Given the description of an element on the screen output the (x, y) to click on. 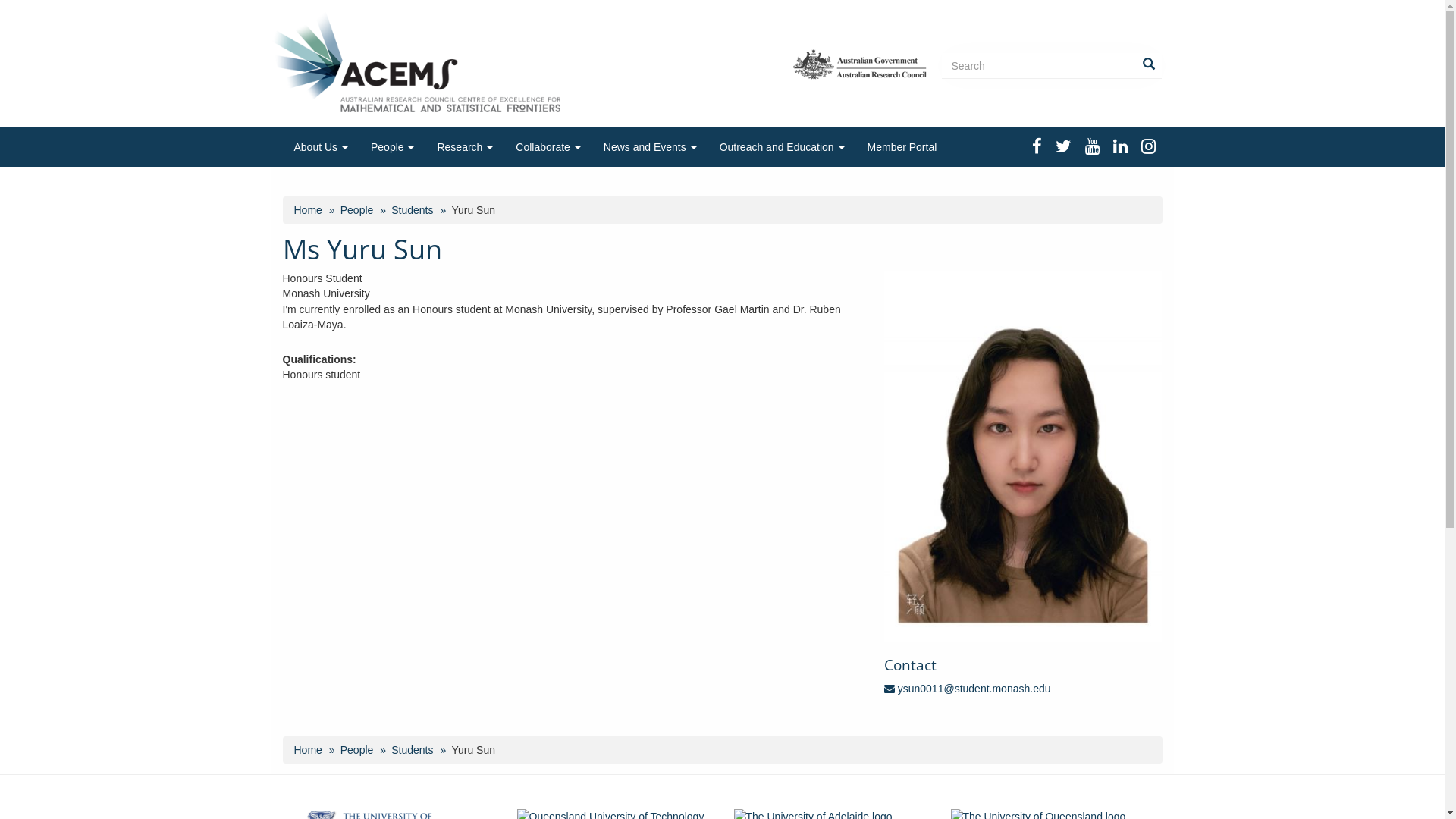
Home Element type: text (308, 749)
Students Element type: text (412, 749)
Students Element type: text (412, 209)
Collaborate Element type: text (548, 147)
People Element type: text (356, 209)
About Us Element type: text (320, 147)
Outreach and Education Element type: text (782, 147)
Enter the terms you wish to search for. Element type: hover (1051, 65)
Home Element type: hover (421, 61)
Home Element type: text (308, 209)
Search Element type: text (953, 93)
People Element type: text (392, 147)
ysun0011@student.monash.edu Element type: text (967, 688)
Member Portal Element type: text (902, 147)
Skip to main content Element type: text (0, 0)
News and Events Element type: text (650, 147)
People Element type: text (356, 749)
Research Element type: text (464, 147)
